Given the description of an element on the screen output the (x, y) to click on. 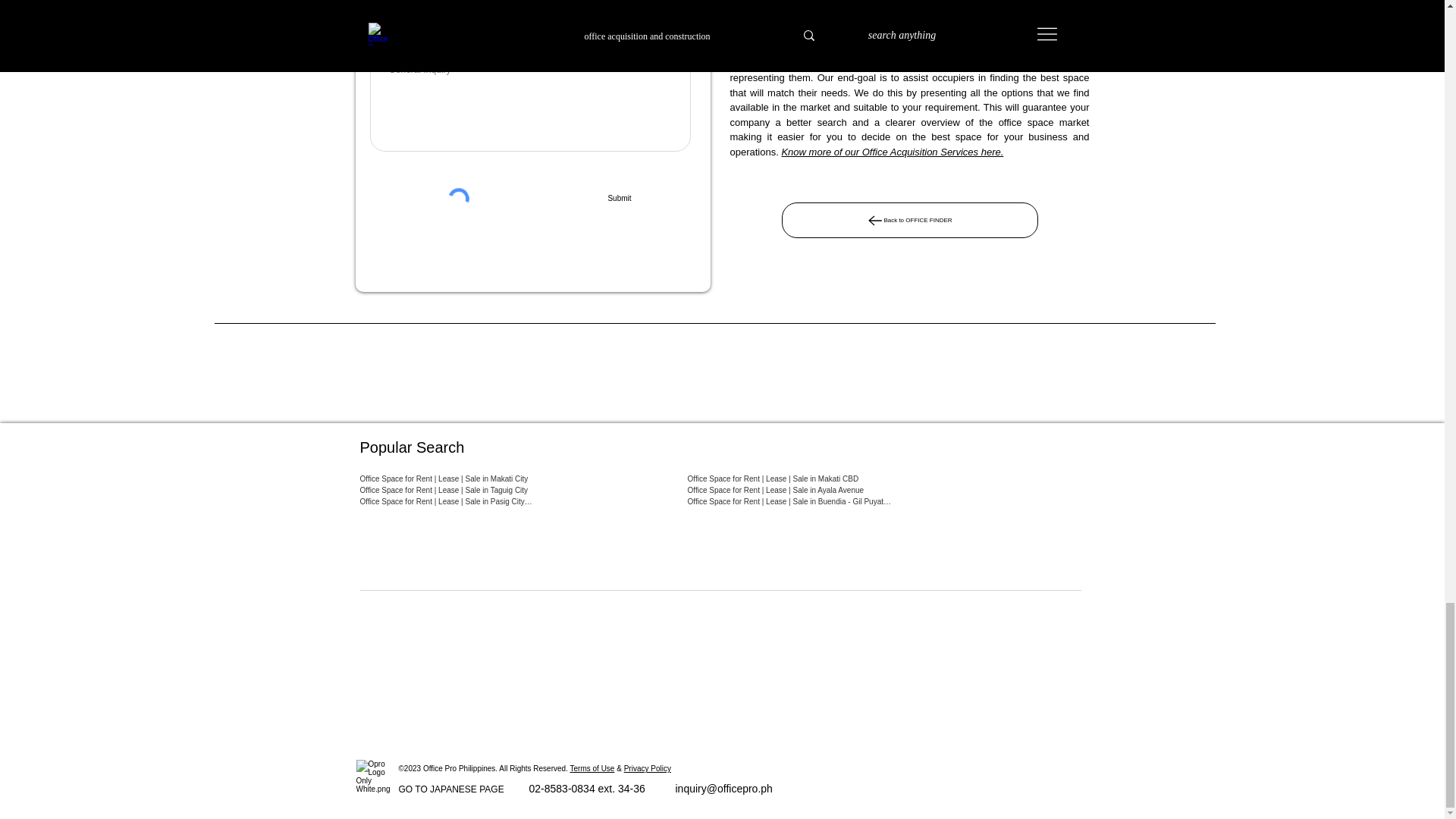
Back to OFFICE FINDER (908, 220)
Submit (618, 198)
Privacy Policy (647, 768)
Know more of our Office Acquisition Services here. (891, 152)
Terms of Use (592, 768)
GO TO JAPANESE PAGE (450, 788)
